Given the description of an element on the screen output the (x, y) to click on. 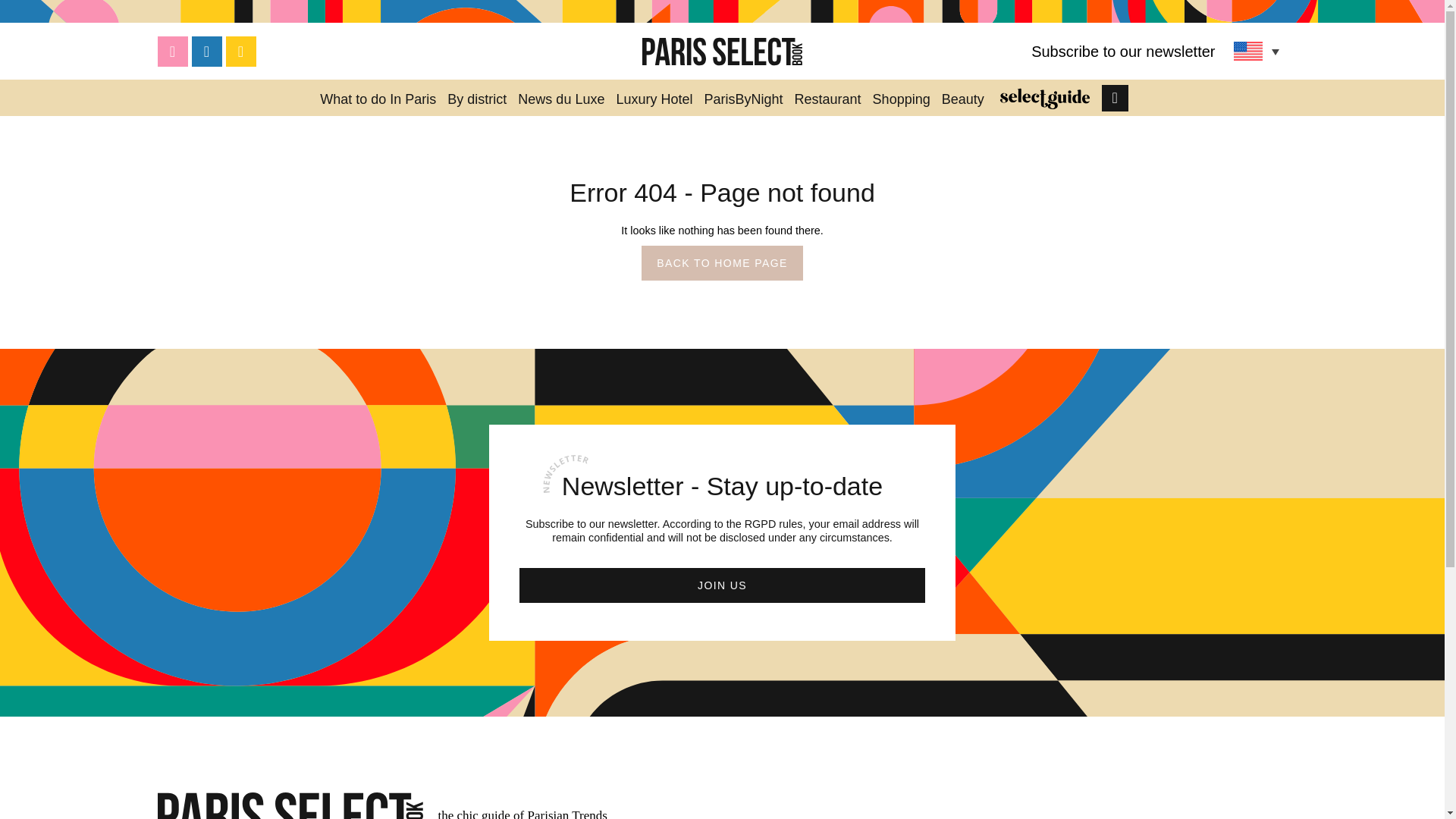
What to do In Paris (377, 97)
Shopping (901, 97)
News du Luxe (560, 97)
Restaurant (827, 97)
Subscribe to our newsletter (1122, 51)
Home Paris Select Book (722, 51)
Back to Home page (722, 262)
Home Paris Select Guide (1044, 97)
Beauty (962, 97)
Join us (721, 585)
